Given the description of an element on the screen output the (x, y) to click on. 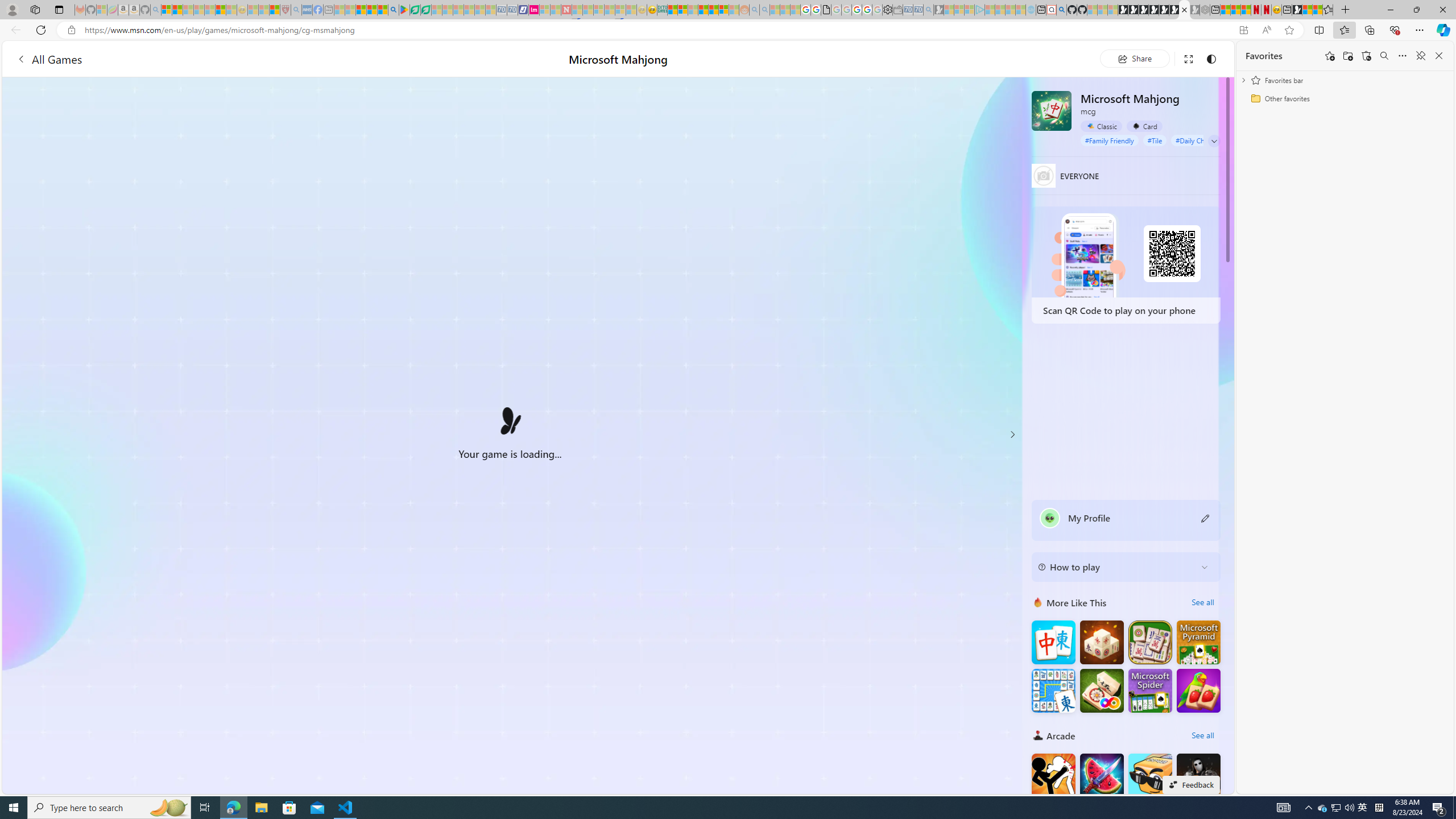
See all (1202, 735)
Hunter Hitman (1198, 775)
More Like This (1037, 602)
Mahjong Big (1053, 642)
